Given the description of an element on the screen output the (x, y) to click on. 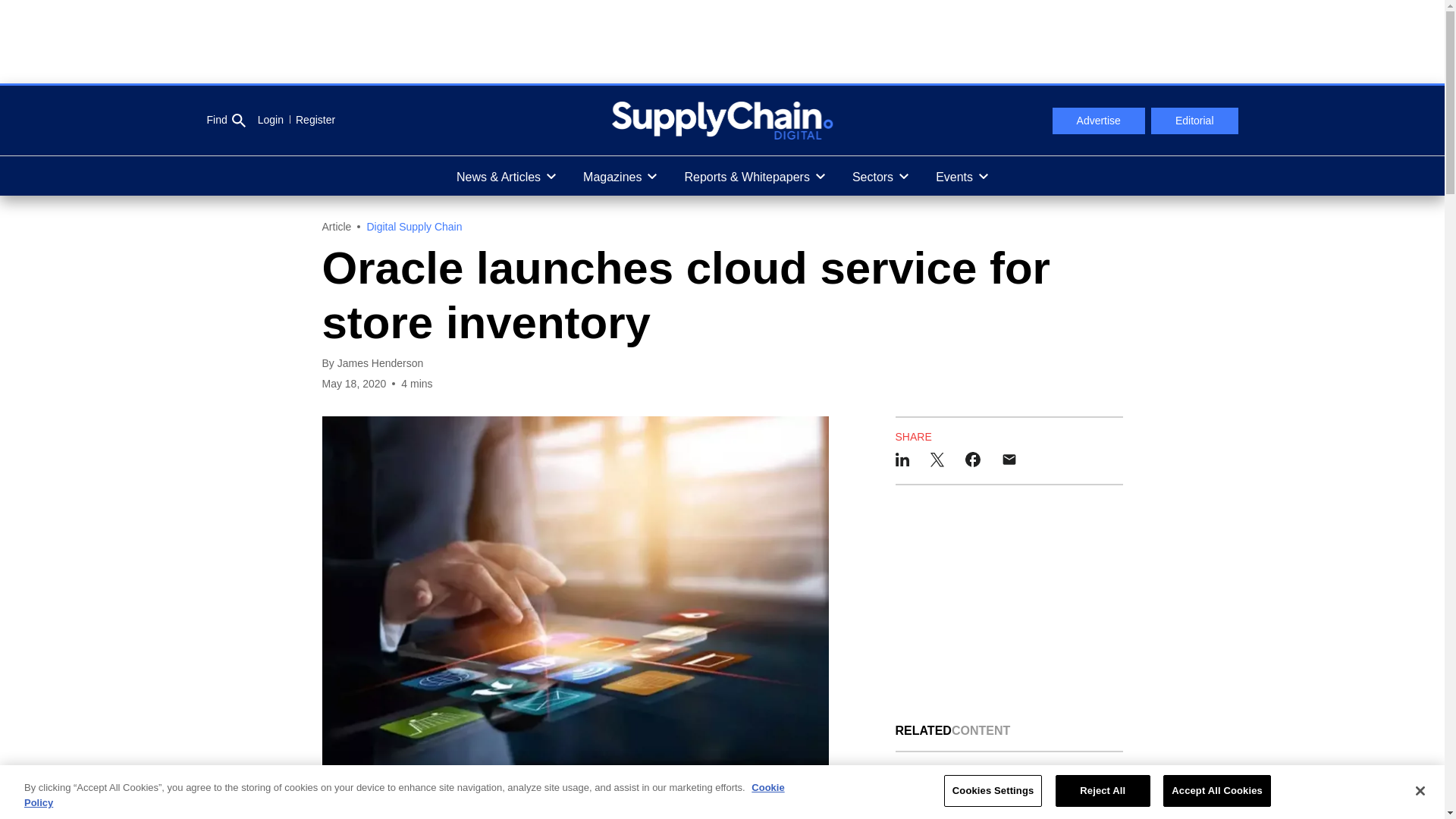
Sectors (879, 175)
Events (961, 175)
Magazines (619, 175)
Advertise (1098, 121)
3rd party ad content (1008, 604)
Login (270, 120)
Editorial (1195, 121)
3rd party ad content (721, 41)
Find (225, 120)
Register (308, 120)
